Given the description of an element on the screen output the (x, y) to click on. 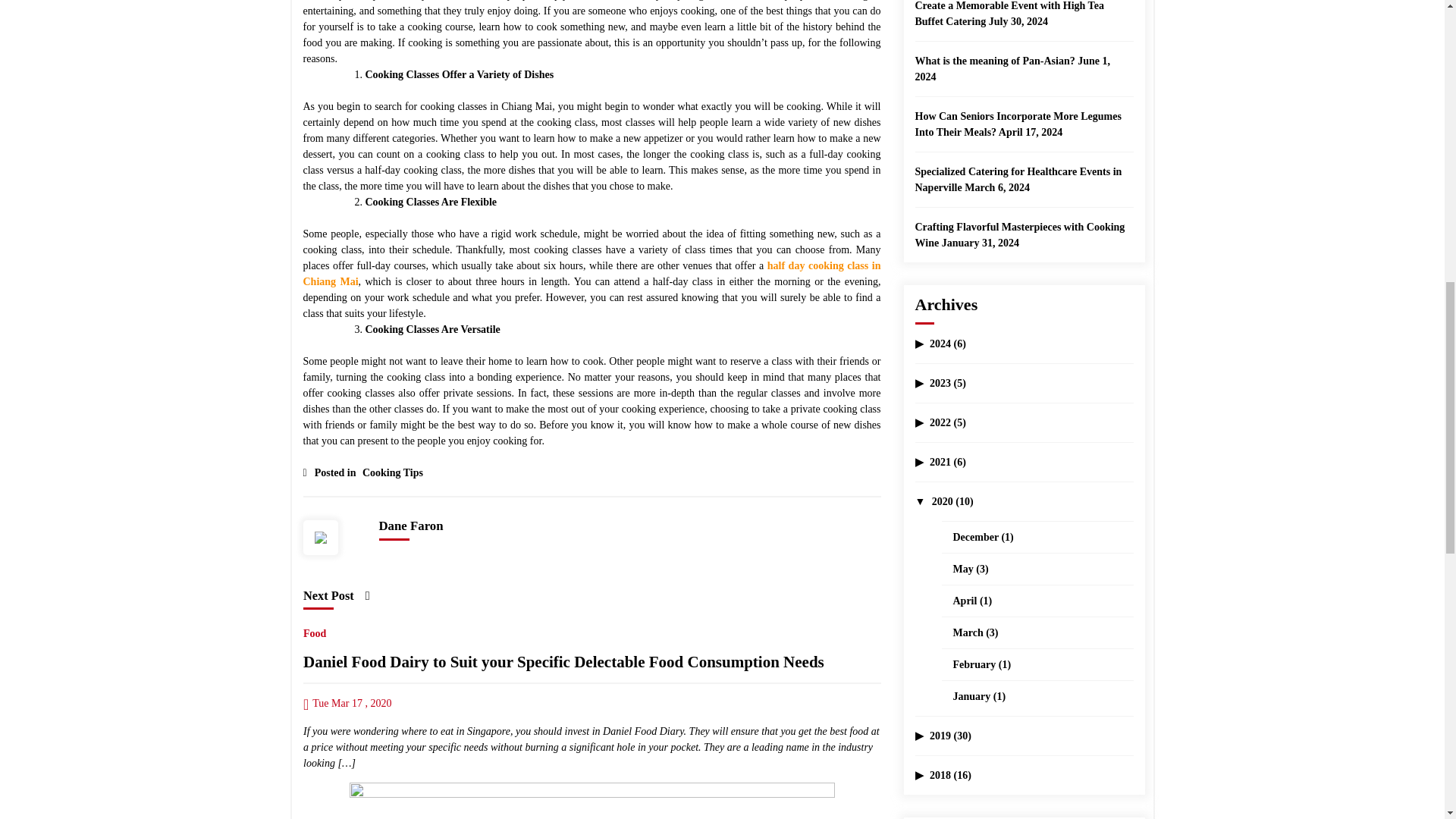
half day cooking class in Chiang Mai (591, 273)
Cooking Tips (390, 469)
Next Post (335, 595)
Food (314, 630)
